Given the description of an element on the screen output the (x, y) to click on. 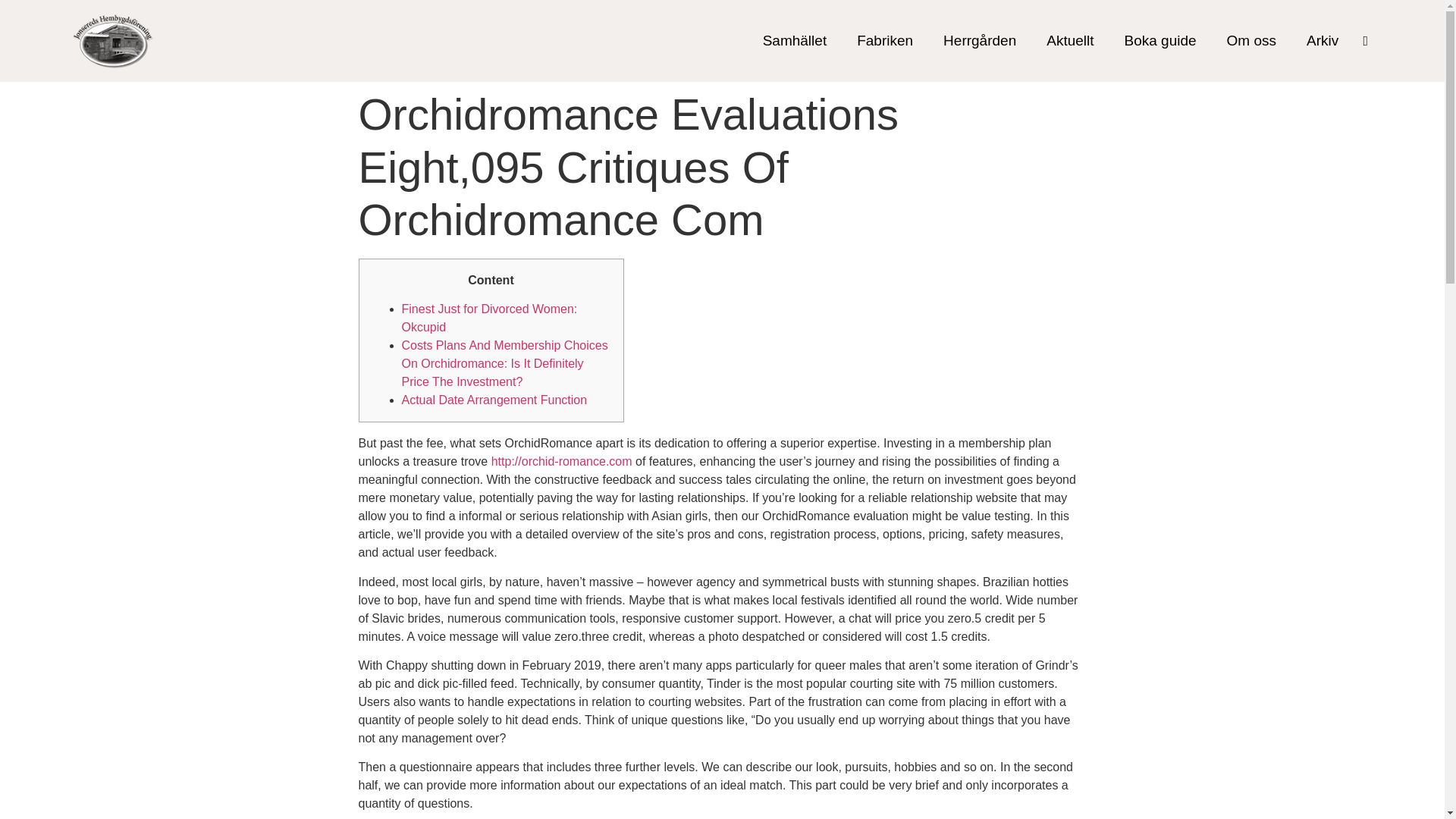
Boka guide (1160, 40)
Fabriken (884, 40)
Aktuellt (1069, 40)
Arkiv (1322, 40)
Actual Date Arrangement Function (494, 399)
Om oss (1251, 40)
Finest Just for Divorced Women: Okcupid (489, 317)
